Given the description of an element on the screen output the (x, y) to click on. 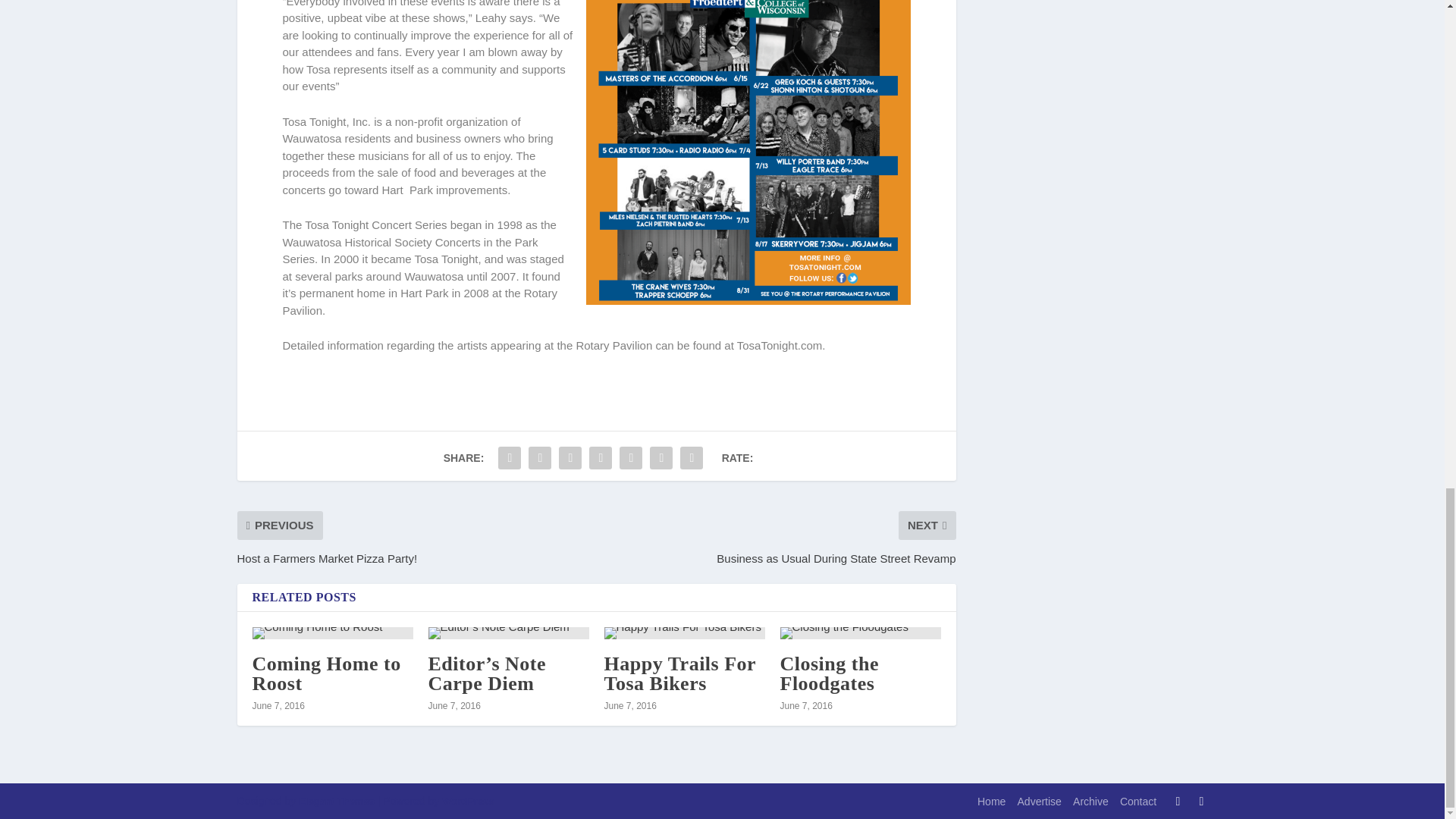
Closing the Floodgates (827, 673)
Coming Home to Roost (325, 673)
Contact (1137, 801)
Happy Trails For Tosa Bikers (684, 633)
Advertise (1039, 801)
Home (991, 801)
Elegant Themes (336, 800)
Premium WordPress Themes (336, 800)
Archive (1090, 801)
Coming Home to Roost (331, 633)
